Given the description of an element on the screen output the (x, y) to click on. 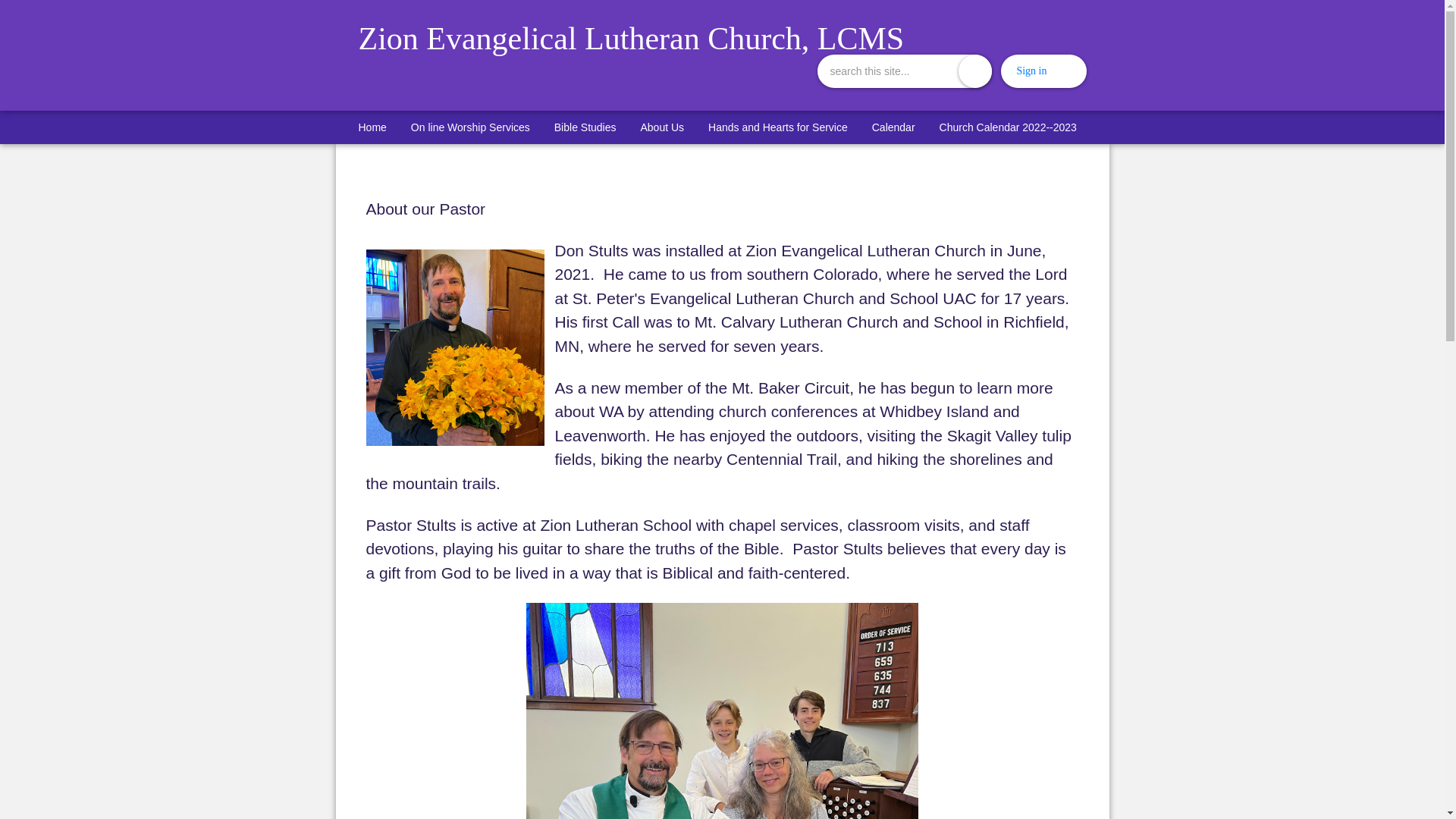
Calendar (893, 127)
Bible Studies (584, 127)
Sign in (1031, 70)
Home (371, 127)
Church Calendar 2022--2023 (1008, 127)
On line Worship Services (469, 127)
